Given the description of an element on the screen output the (x, y) to click on. 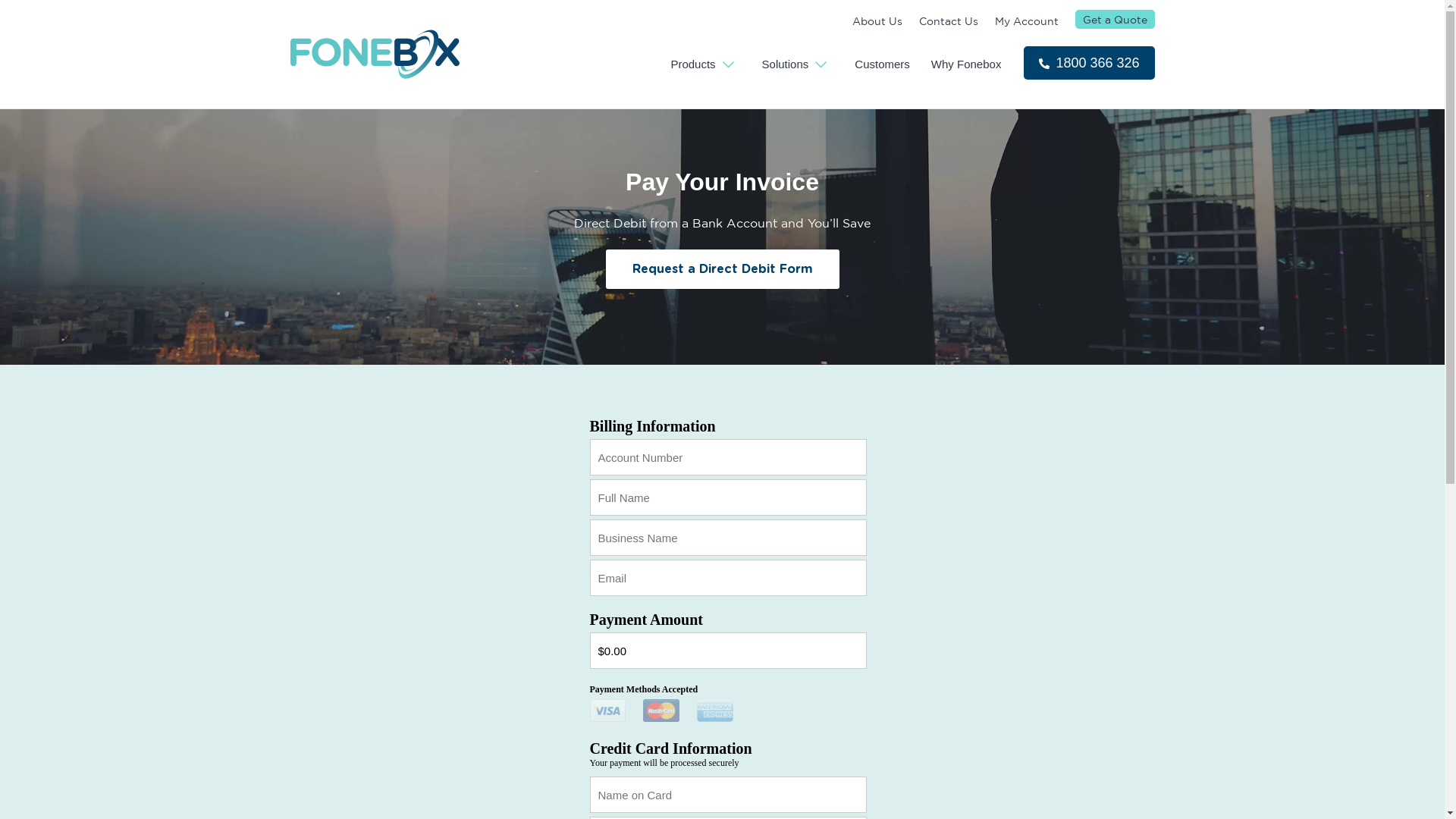
Request a Direct Debit Form Element type: text (721, 268)
1800 366 326 Element type: text (1088, 62)
Why Fonebox Element type: text (966, 66)
Logo Element type: hover (373, 53)
Customers Element type: text (882, 66)
Solutions Element type: text (797, 66)
My Account Element type: text (1026, 20)
Contact Us Element type: text (948, 20)
Products Element type: text (704, 66)
About Us Element type: text (877, 20)
Get a Quote Element type: text (1114, 18)
